Given the description of an element on the screen output the (x, y) to click on. 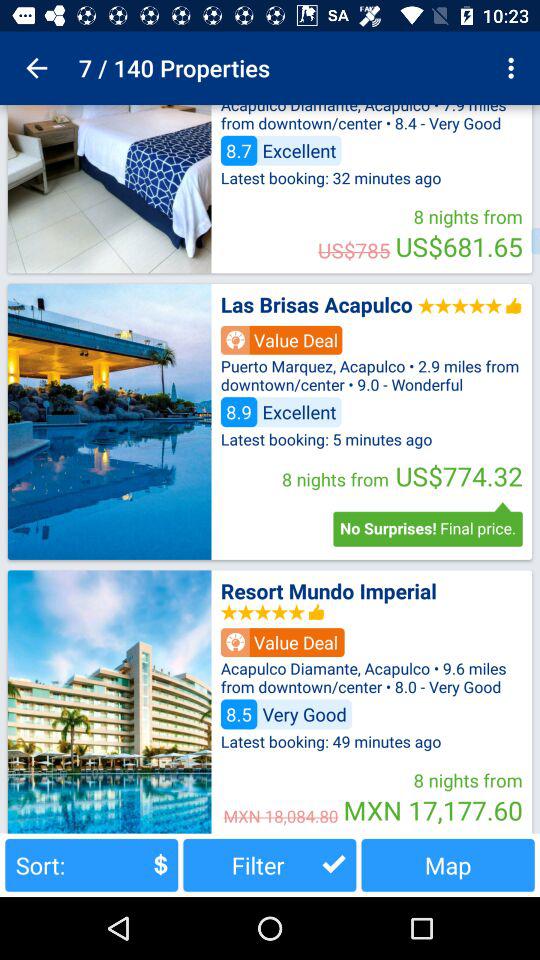
view picture (109, 189)
